Given the description of an element on the screen output the (x, y) to click on. 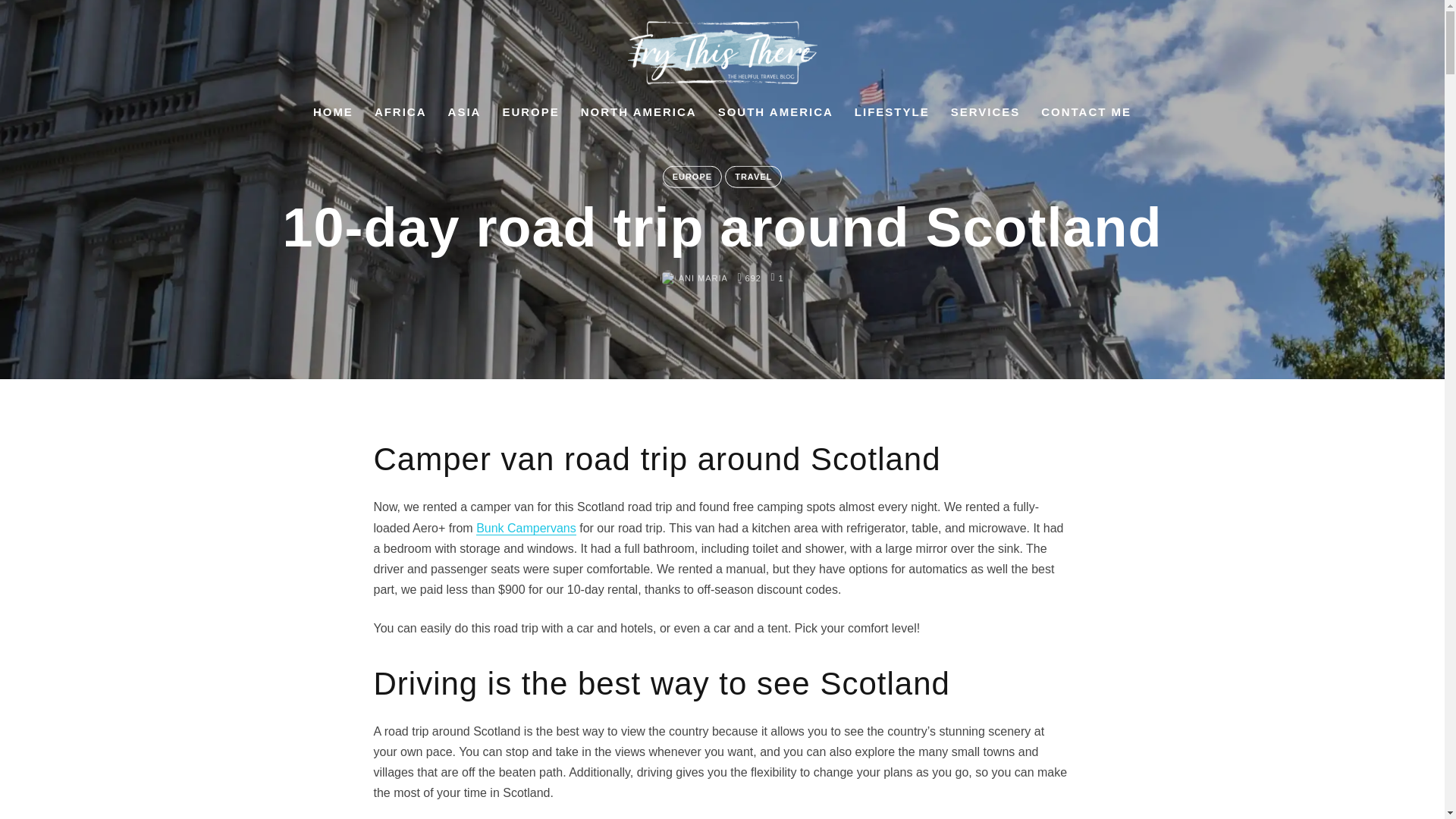
ANI MARIA (694, 277)
HOME (333, 116)
Bunk Campervans (526, 528)
AFRICA (400, 116)
NORTH AMERICA (638, 116)
EUROPE (530, 116)
LIFESTYLE (892, 116)
TRAVEL (753, 177)
SERVICES (985, 116)
EUROPE (692, 177)
